Given the description of an element on the screen output the (x, y) to click on. 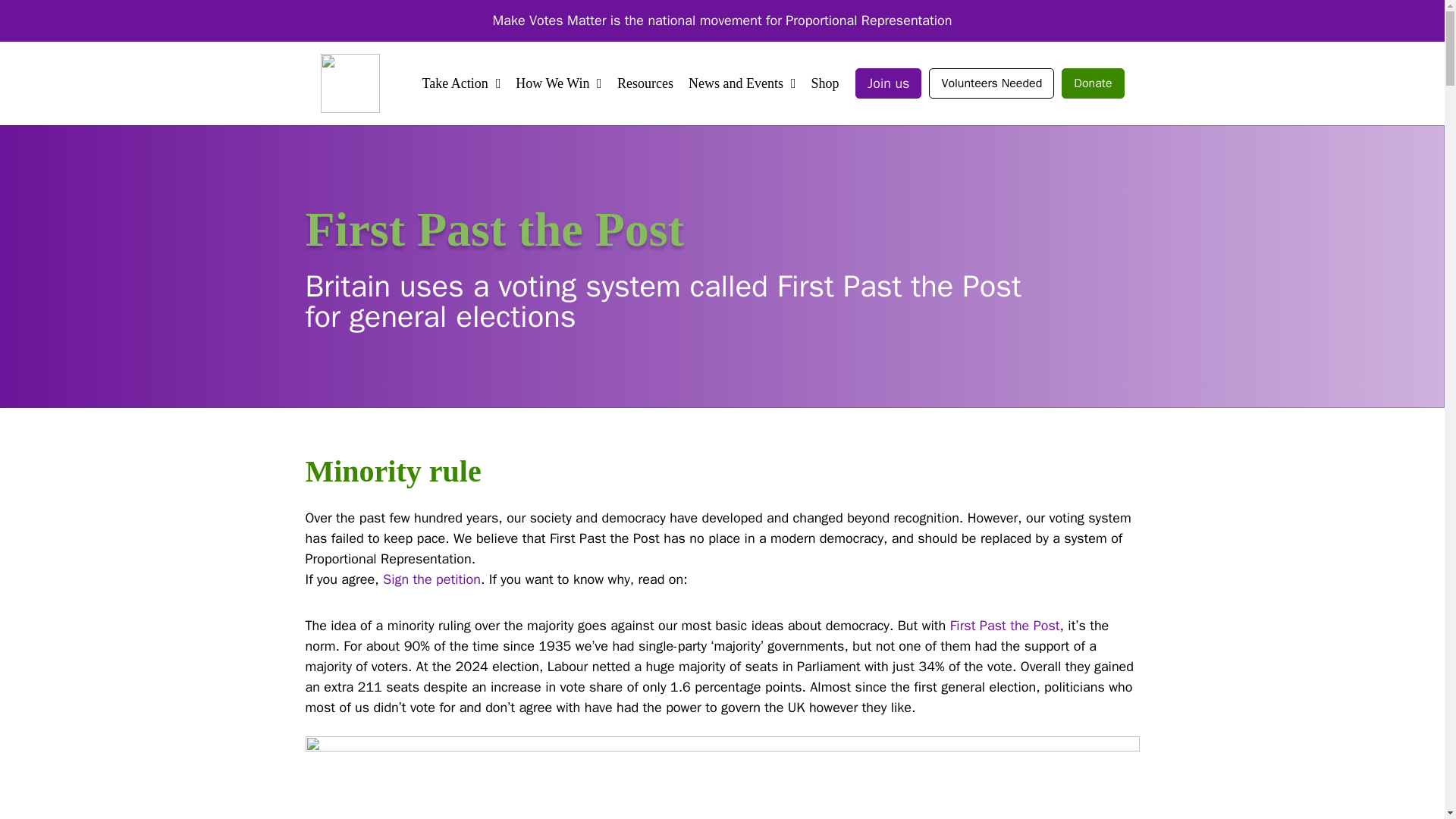
Take Action (454, 82)
Volunteers Needed (991, 82)
How We Win (552, 82)
Resources (644, 82)
News and Events (735, 82)
Shop (825, 82)
Join us (888, 82)
Donate (1092, 82)
